Given the description of an element on the screen output the (x, y) to click on. 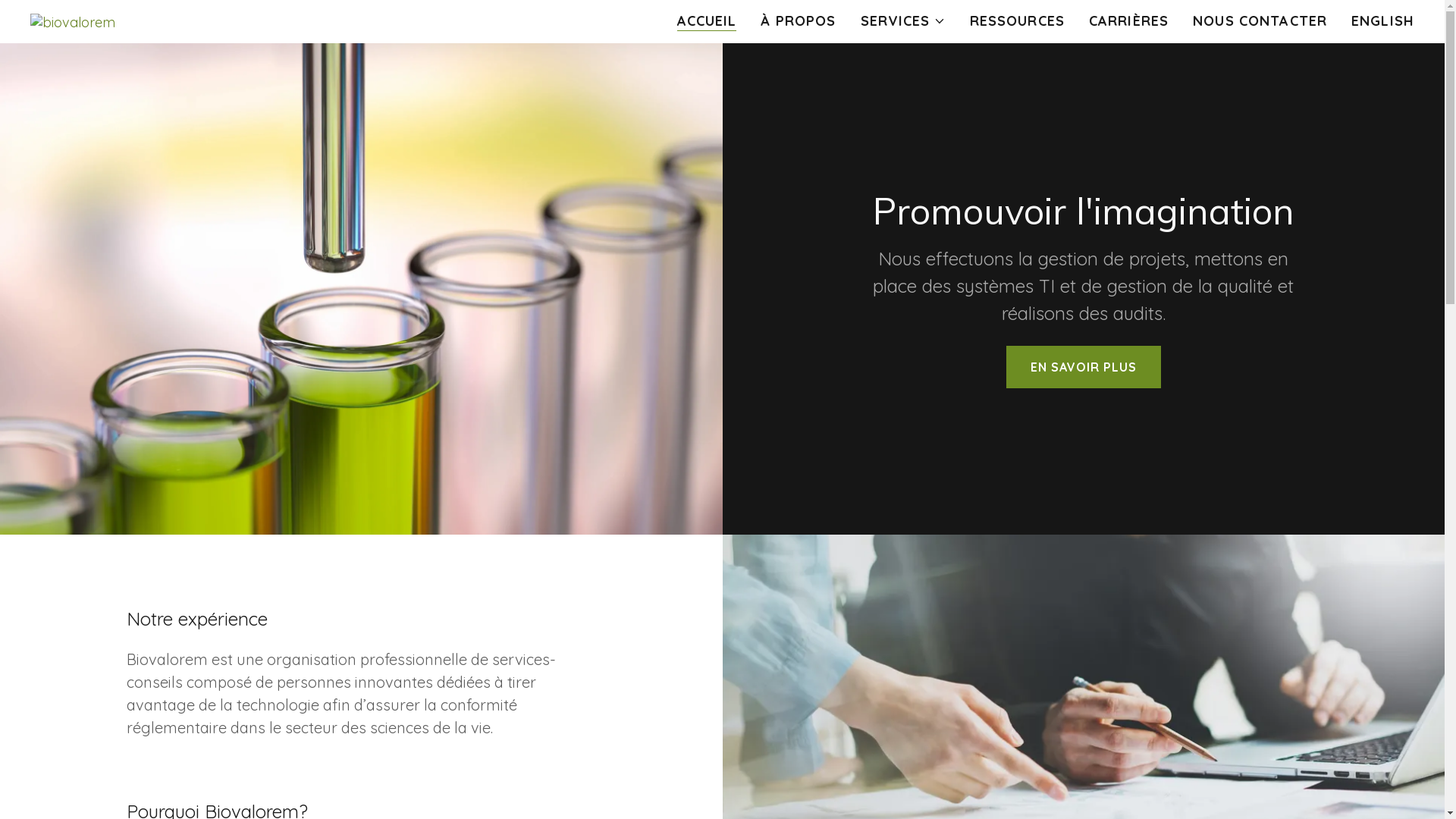
EN SAVOIR PLUS Element type: text (1083, 366)
ACCUEIL Element type: text (706, 21)
biovalorem Element type: hover (72, 20)
RESSOURCES Element type: text (1017, 20)
SERVICES Element type: text (902, 21)
ENGLISH Element type: text (1382, 20)
NOUS CONTACTER Element type: text (1259, 20)
